Given the description of an element on the screen output the (x, y) to click on. 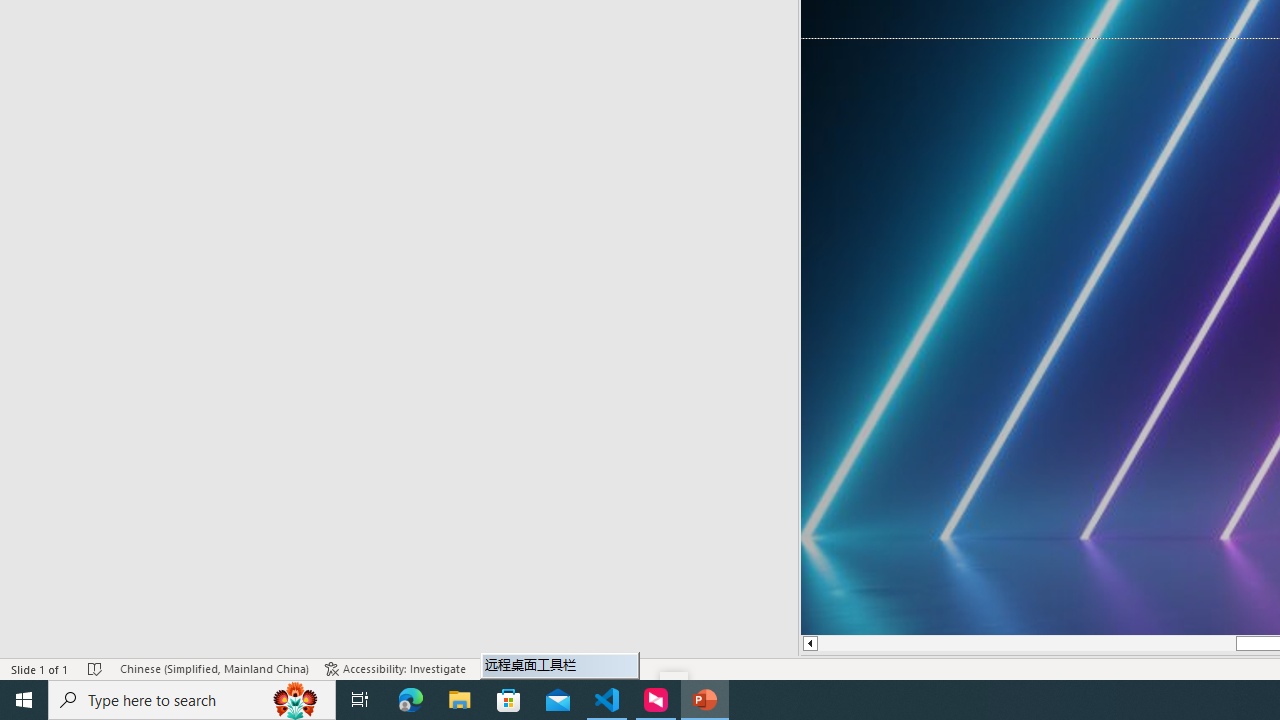
Accessibility Checker Accessibility: Investigate (395, 668)
Spell Check No Errors (95, 668)
